Given the description of an element on the screen output the (x, y) to click on. 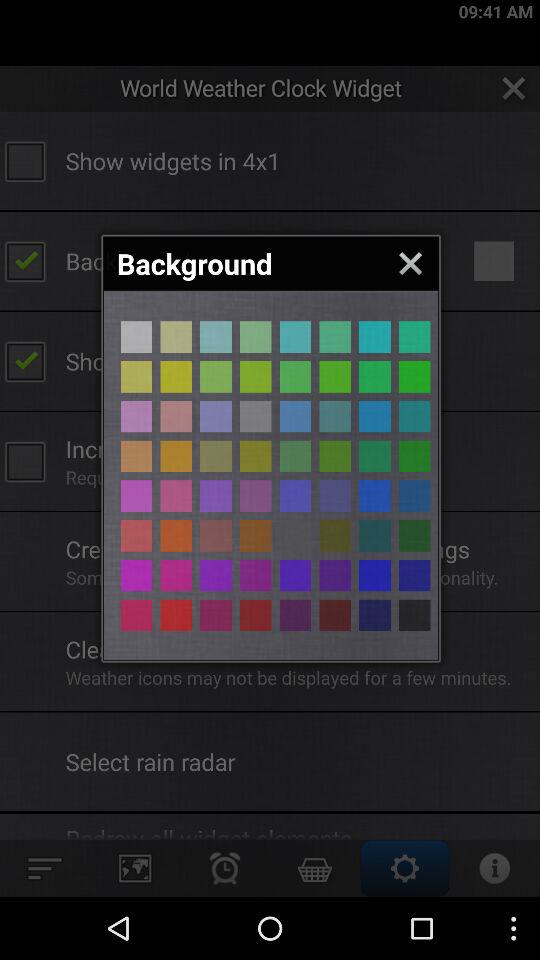
select color (136, 615)
